Given the description of an element on the screen output the (x, y) to click on. 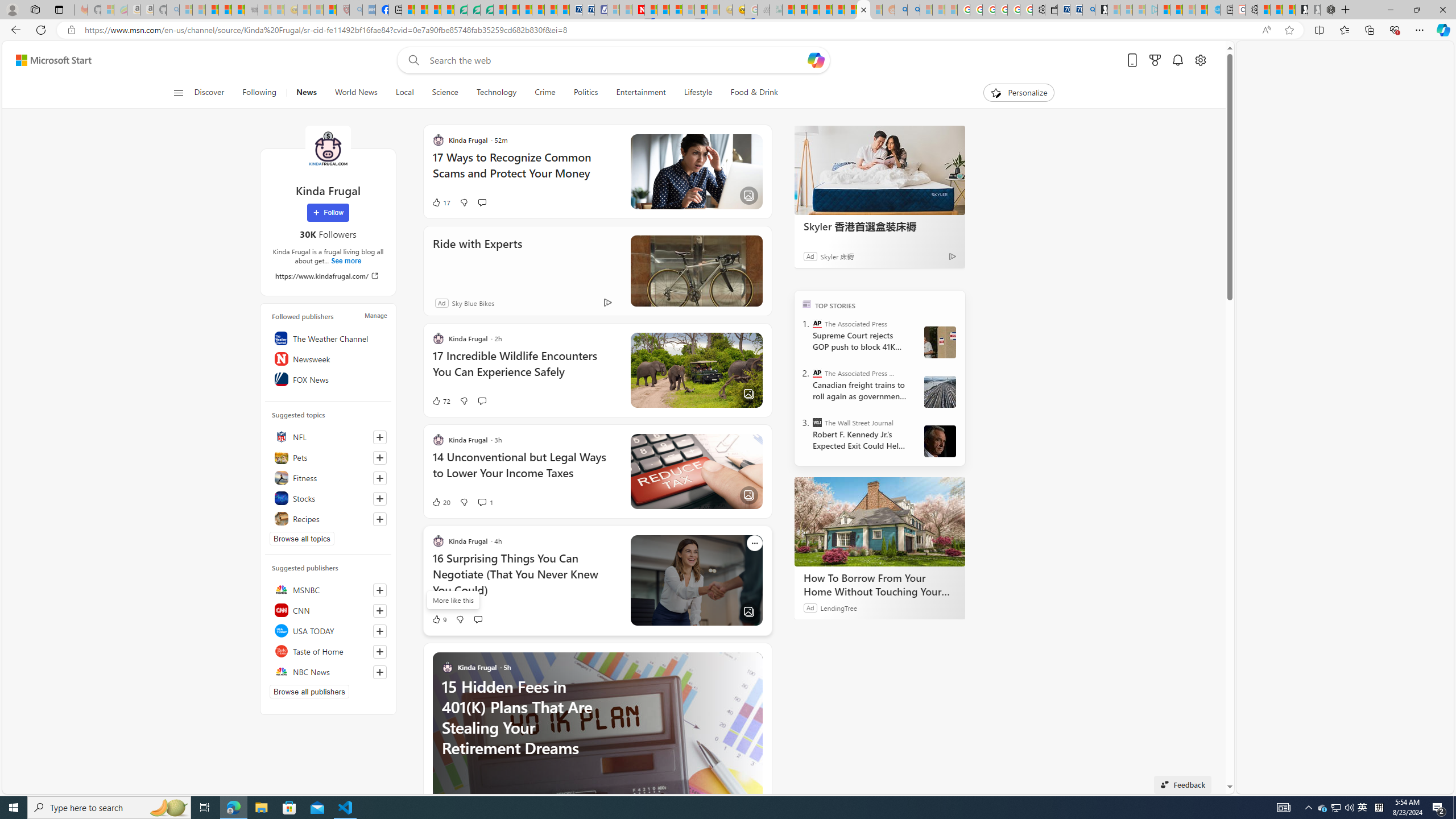
14 Common Myths Debunked By Scientific Facts (663, 9)
Home | Sky Blue Bikes - Sky Blue Bikes (1213, 9)
View comments 1 Comment (481, 501)
New Report Confirms 2023 Was Record Hot | Watch (237, 9)
Fitness (327, 477)
Skip to content (49, 59)
Microsoft rewards (1154, 60)
Follow this topic (379, 518)
